Given the description of an element on the screen output the (x, y) to click on. 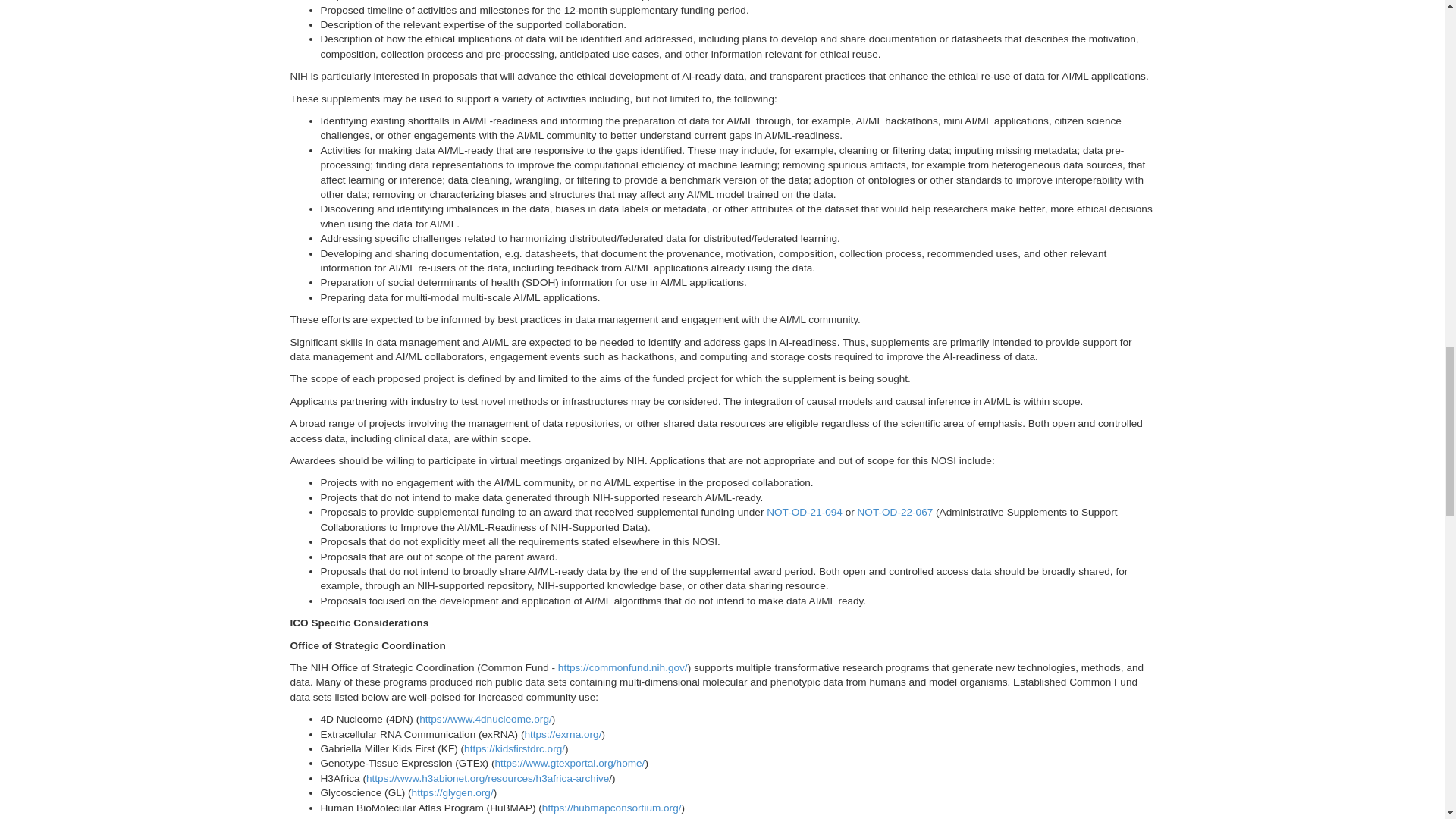
NOT-OD-21-094 (805, 511)
Link to Non-U.S. Government Site (583, 817)
Link to Non-U.S. Government Site (452, 792)
Link to Non-U.S. Government Site (562, 734)
Link to Non-U.S. Government Site (570, 763)
Link to Non-U.S. Government Site (611, 808)
NOT-OD-22-067 (895, 511)
Link to Non-U.S. Government Site (485, 718)
Link to Non-U.S. Government Site (514, 748)
Link to Non-U.S. Government Site (487, 778)
